Given the description of an element on the screen output the (x, y) to click on. 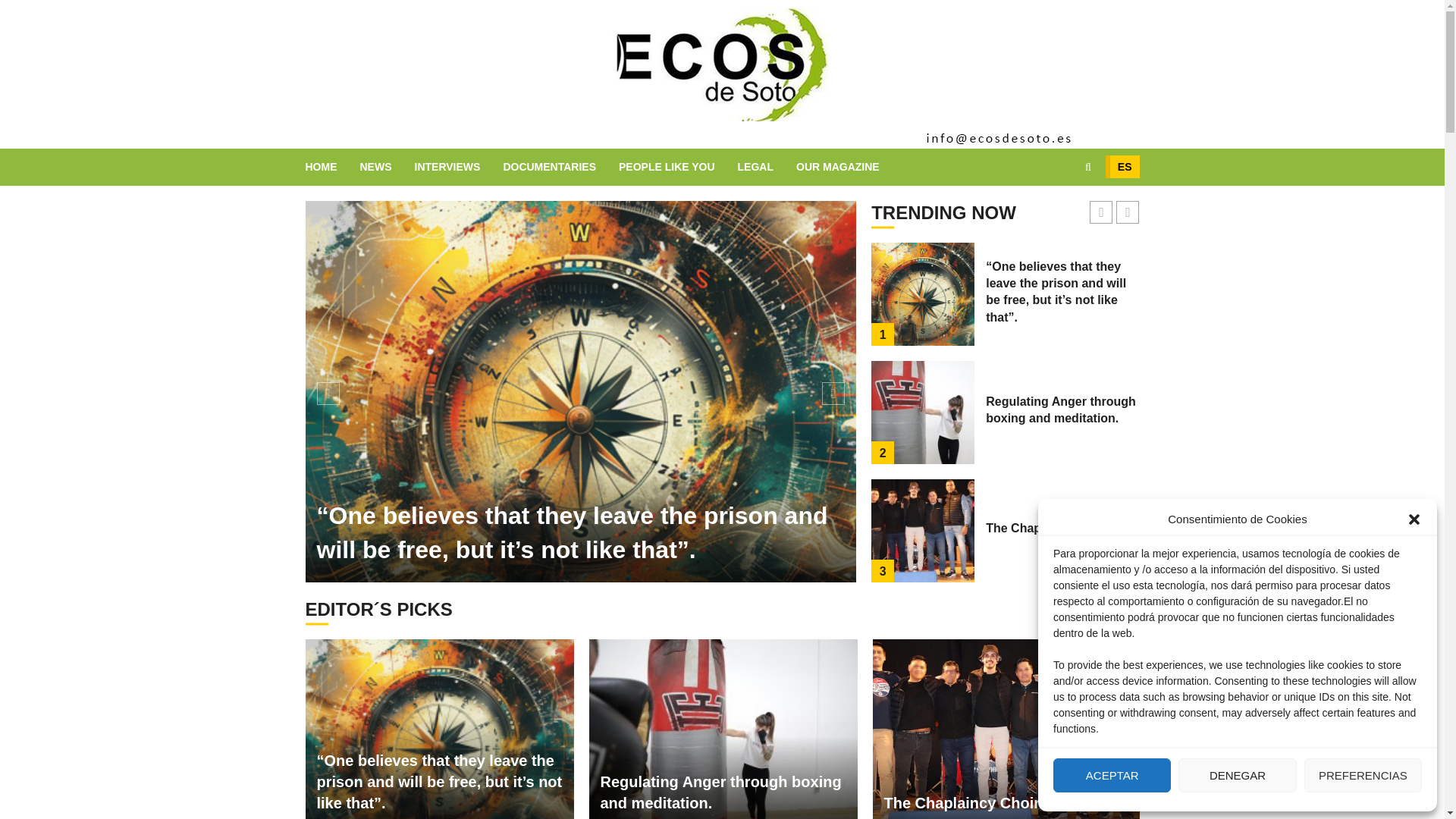
LEGAL (767, 166)
OUR MAGAZINE (837, 166)
Search (1058, 213)
DOCUMENTARIES (560, 166)
PREFERENCIAS (1363, 775)
NEWS (386, 166)
HOME (331, 166)
ACEPTAR (1111, 775)
INTERVIEWS (457, 166)
ES (1122, 166)
